Given the description of an element on the screen output the (x, y) to click on. 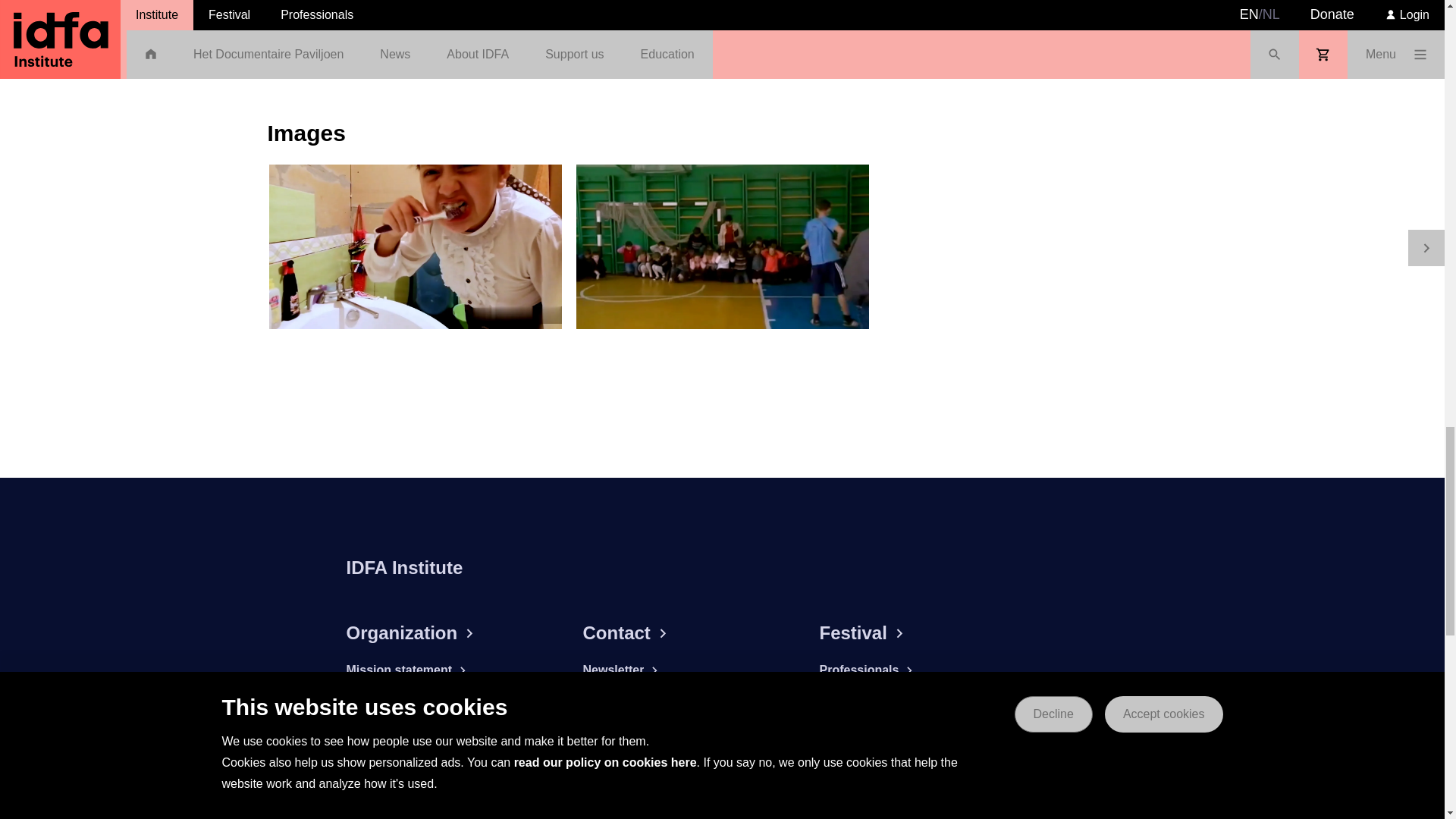
Annual reports (446, 697)
Jobs at IDFA (446, 724)
Organization (446, 632)
Mission statement (446, 670)
Volunteers (446, 752)
Staff (446, 779)
